Given the description of an element on the screen output the (x, y) to click on. 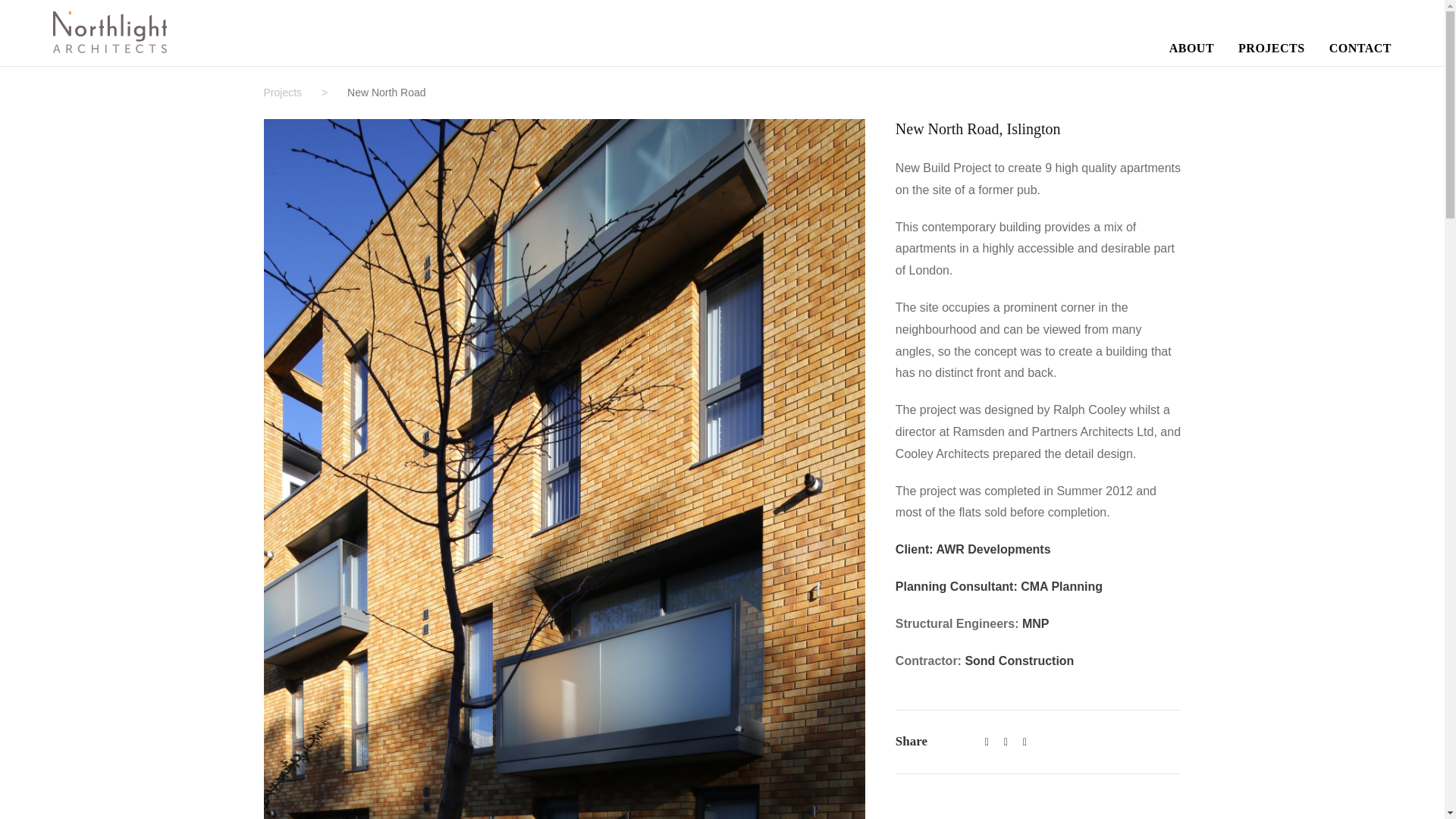
CONTACT (1360, 51)
ABOUT (1191, 51)
Planning Consultant: CMA Planning (998, 585)
Projects (282, 92)
Go to Projects. (282, 92)
Client: AWR Developments (973, 549)
PROJECTS (1271, 51)
Sond Construction (1018, 660)
MNP (1035, 623)
